Given the description of an element on the screen output the (x, y) to click on. 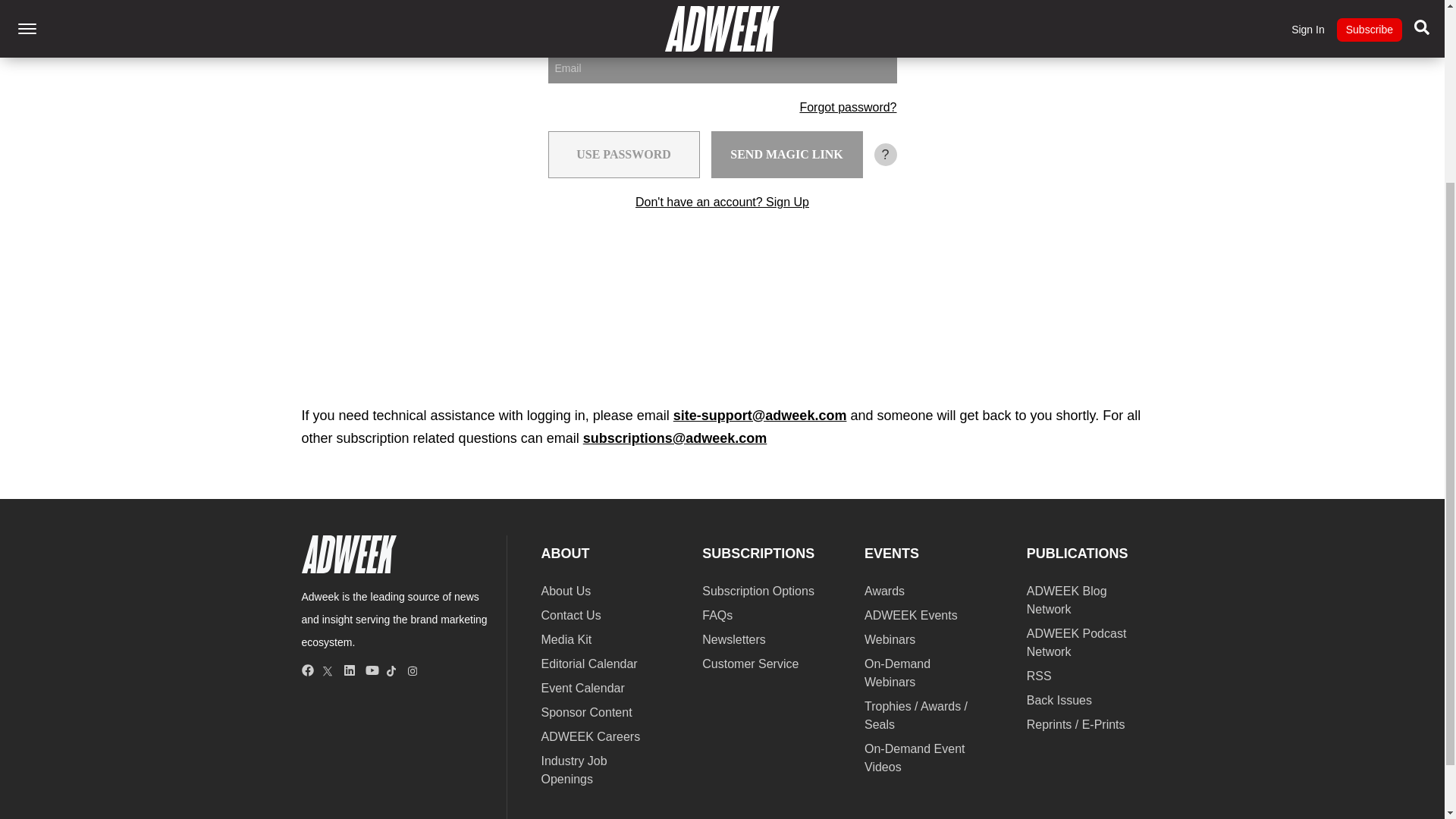
Forgot password? (847, 106)
ADWEEK Careers (590, 736)
Industry Job Openings (574, 769)
ABOUT (565, 553)
Media Kit (566, 639)
Sponsor Content (586, 712)
USE PASSWORD (622, 154)
About Us (566, 590)
SEND MAGIC LINK (787, 154)
Editorial Calendar (589, 663)
